Given the description of an element on the screen output the (x, y) to click on. 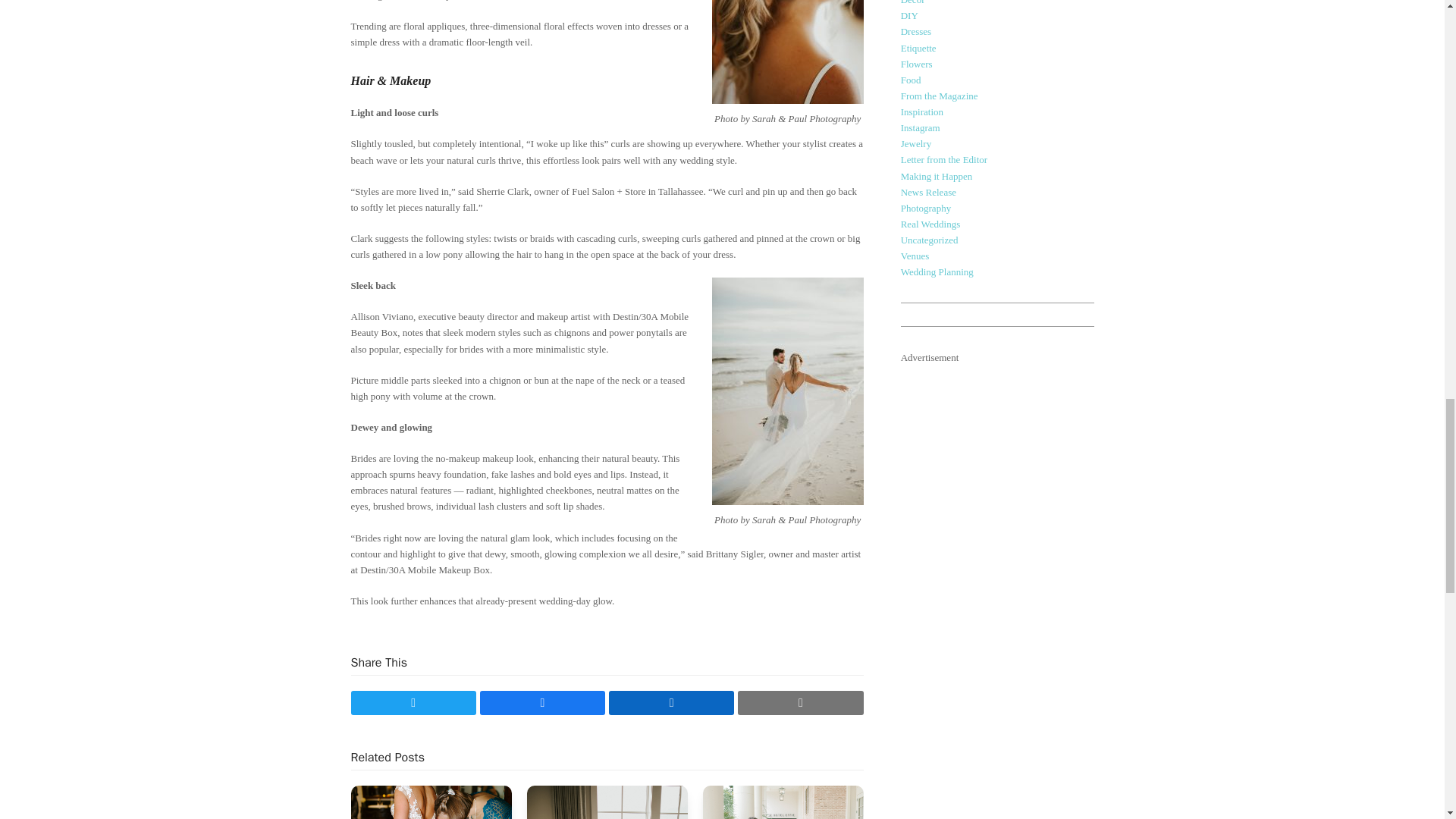
Share via Email (800, 702)
Share on LinkedIn (670, 702)
Share on Twitter (413, 702)
Share on Facebook (542, 702)
